Given the description of an element on the screen output the (x, y) to click on. 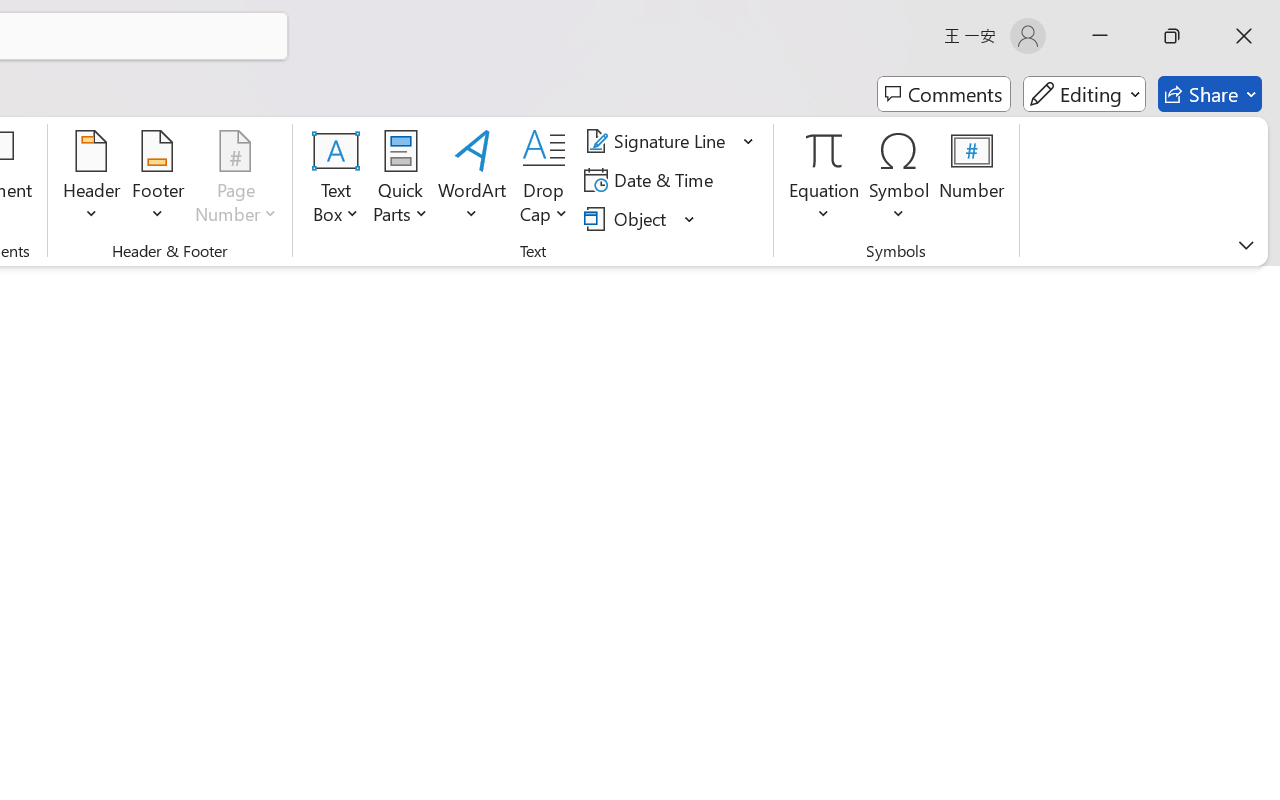
Quick Parts (400, 179)
Footer (157, 179)
Mode (1083, 94)
Drop Cap (543, 179)
Symbol (899, 179)
Object... (628, 218)
Ribbon Display Options (1246, 245)
Comments (943, 94)
WordArt (472, 179)
Page Number (236, 179)
